Given the description of an element on the screen output the (x, y) to click on. 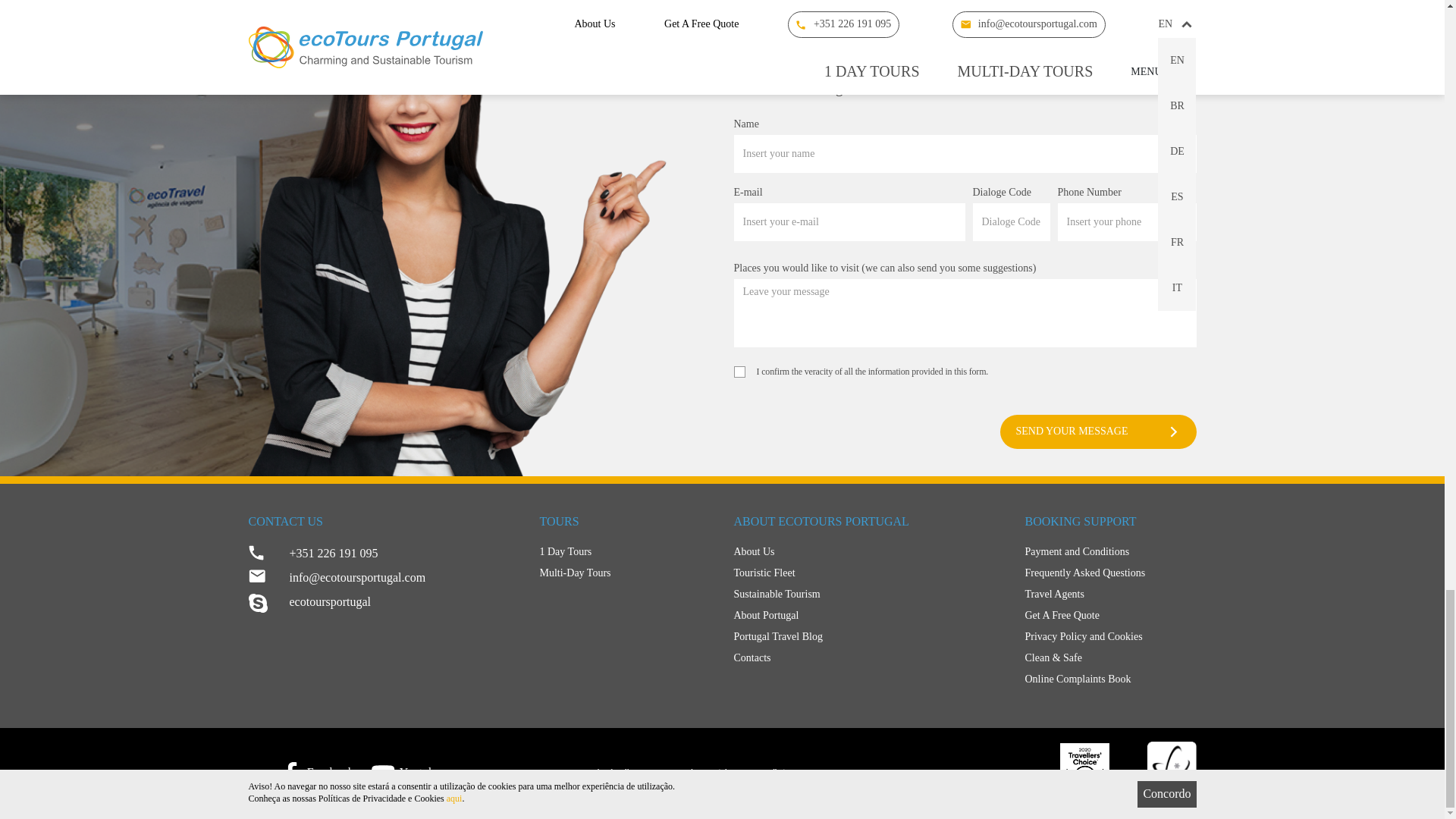
Privacy Policy and Cookies (1110, 636)
ecotoursportugal (382, 601)
Multi-Day Tours (625, 572)
1 Day Tours (625, 551)
1 (739, 371)
Frequently Asked Questions (1110, 572)
Online Complaints Book (1110, 679)
Travel Agents (1110, 594)
Touristic Fleet (868, 572)
Sustainable Tourism (868, 594)
